Given the description of an element on the screen output the (x, y) to click on. 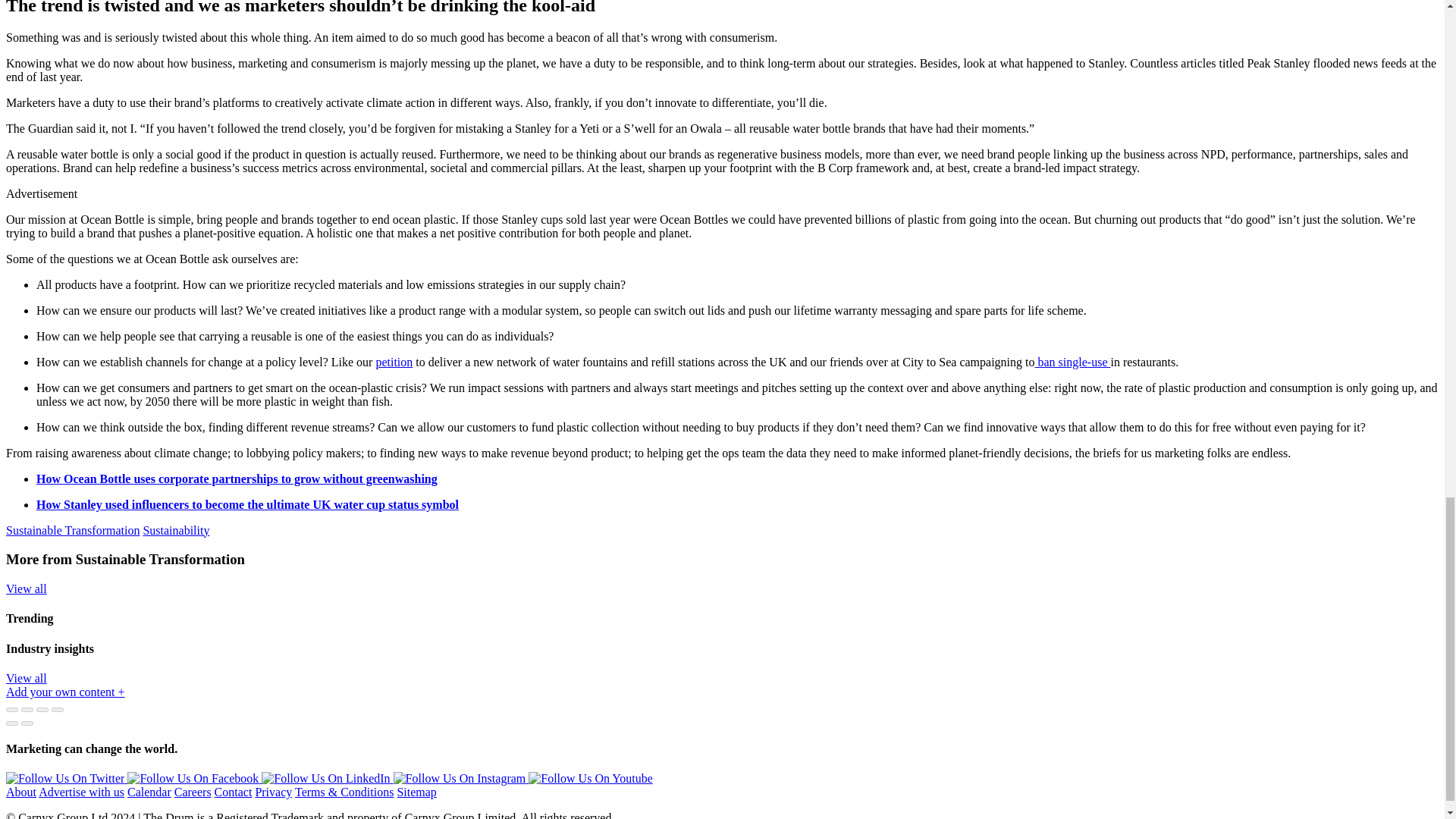
Sustainability (175, 530)
Share (27, 709)
Advertise with us (81, 791)
petition (393, 361)
Sustainable Transformation (72, 530)
View all (25, 677)
Toggle fullscreen (42, 709)
About (20, 791)
ban single-use (1071, 361)
View all (25, 588)
